Given the description of an element on the screen output the (x, y) to click on. 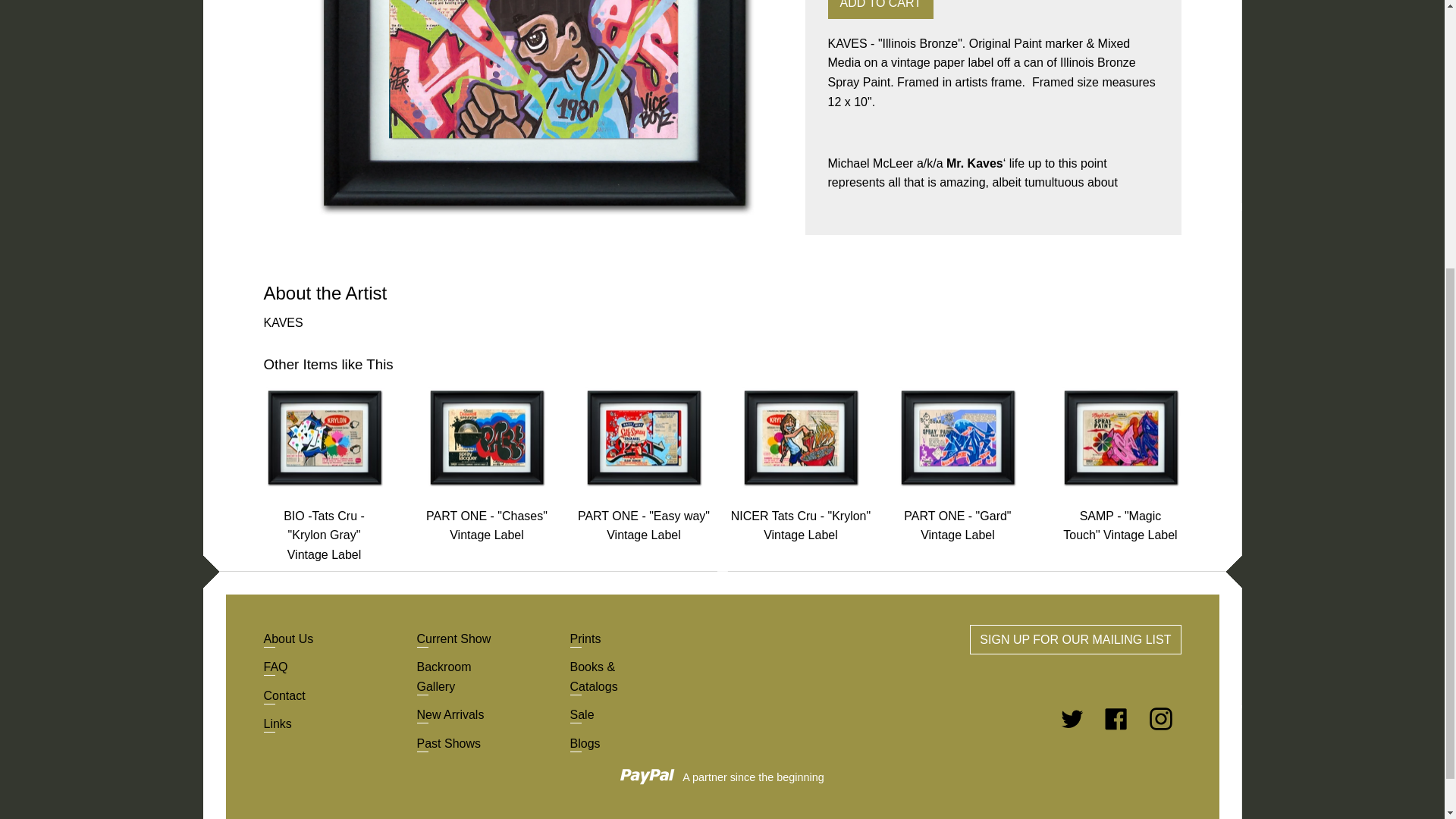
About Us (288, 638)
New Arrivals (450, 714)
PART ONE - "Easy way" Vintage Label (644, 525)
DirtyPilot on Facebook (1118, 717)
Current Show (454, 638)
Prints (585, 638)
Backroom Gallery (443, 676)
NICER Tats Cru - "Krylon" Vintage Label (800, 525)
PART ONE - "Chases" Vintage Label (486, 525)
FAQ (275, 666)
ADD TO CART (881, 9)
Sale (582, 714)
Past Shows (448, 743)
DirtyPilot on Instagram (1161, 717)
DirtyPilot on Twitter (1073, 717)
